Given the description of an element on the screen output the (x, y) to click on. 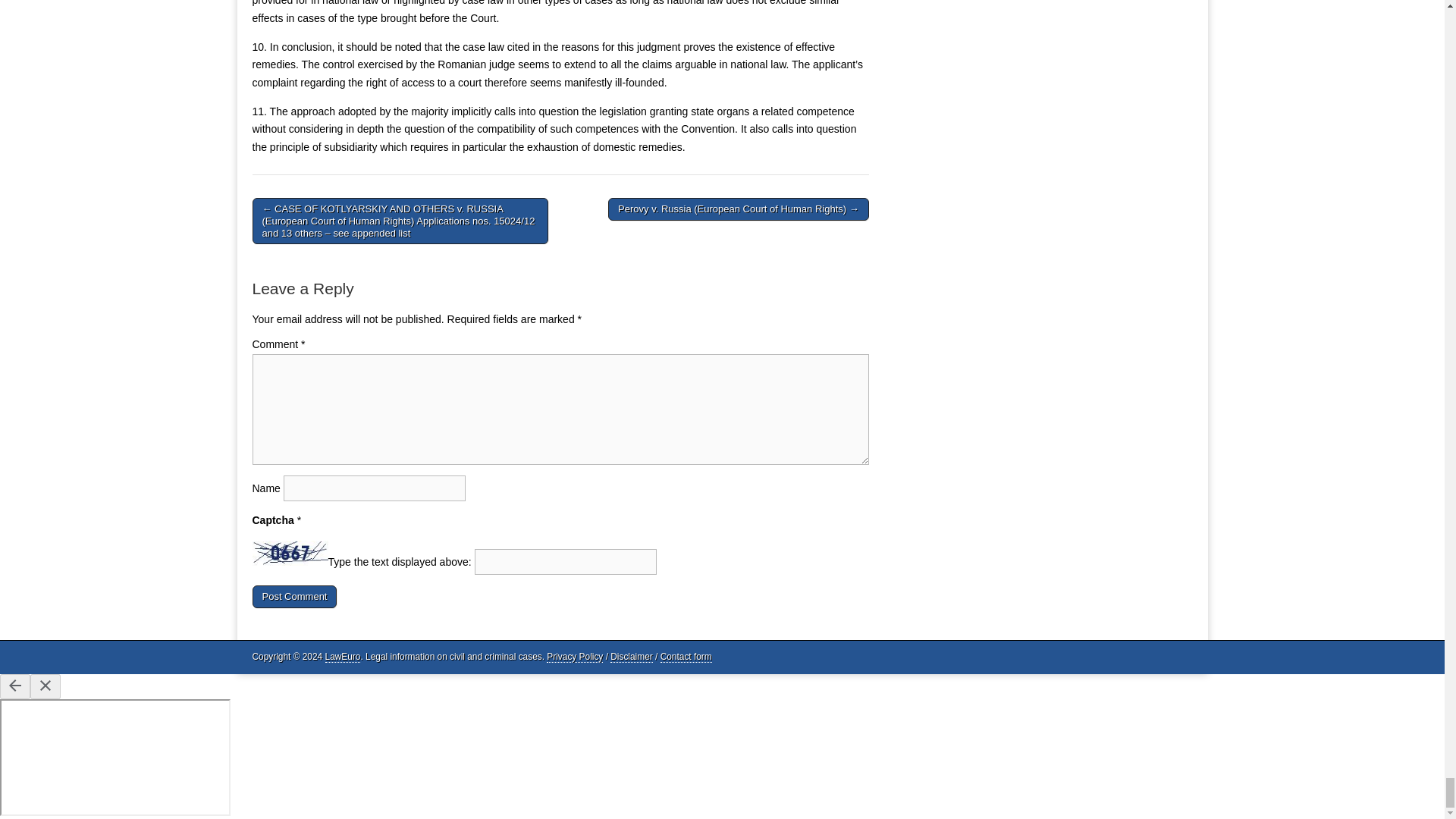
Privacy Policy (574, 656)
LawEuro (342, 656)
Post Comment (293, 596)
Disclaimer (631, 656)
Contact form (686, 656)
Post Comment (293, 596)
